Given the description of an element on the screen output the (x, y) to click on. 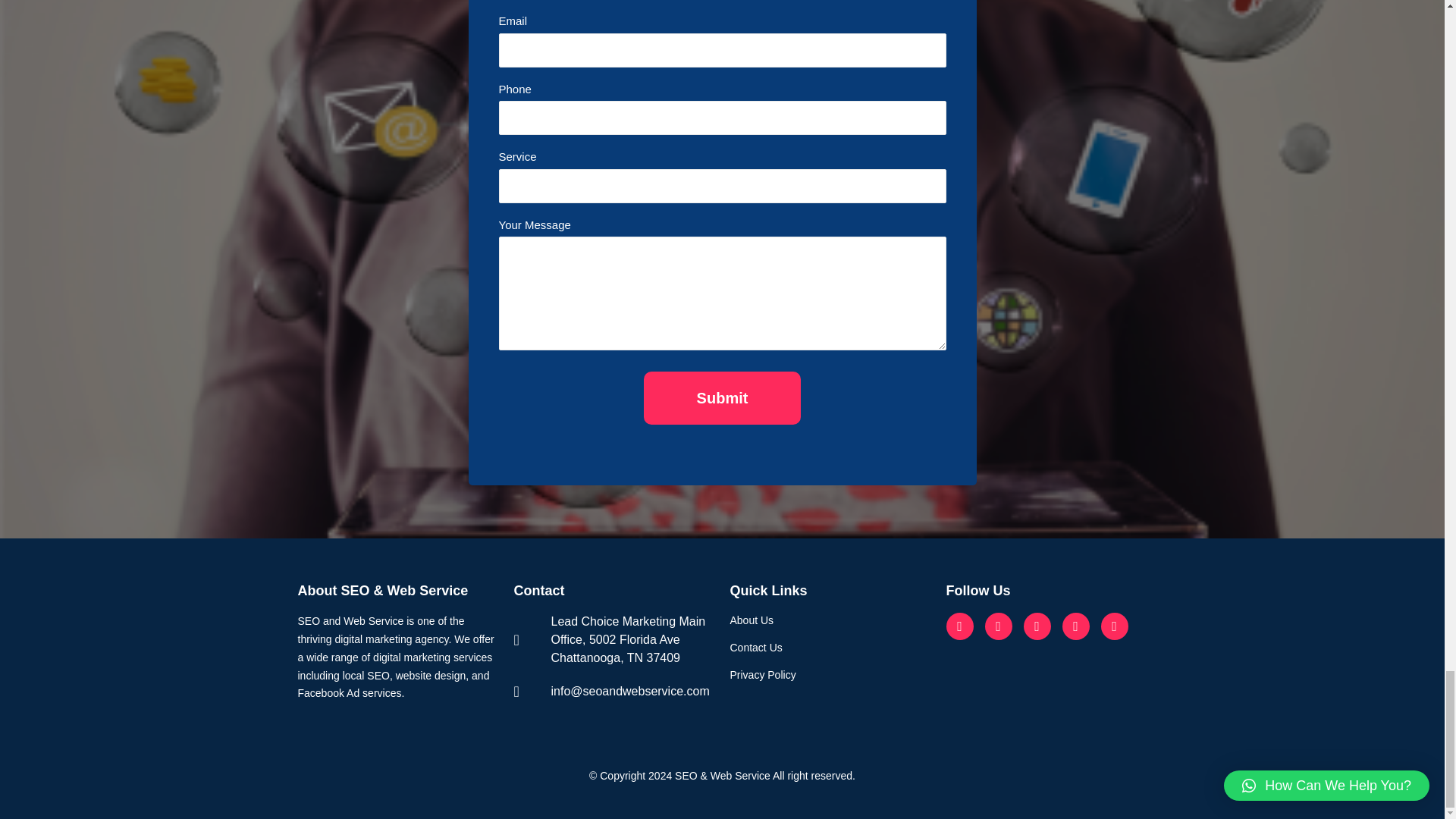
Privacy Policy (829, 675)
Submit (722, 398)
Contact Us (829, 647)
Submit (722, 398)
About Us (829, 620)
